Given the description of an element on the screen output the (x, y) to click on. 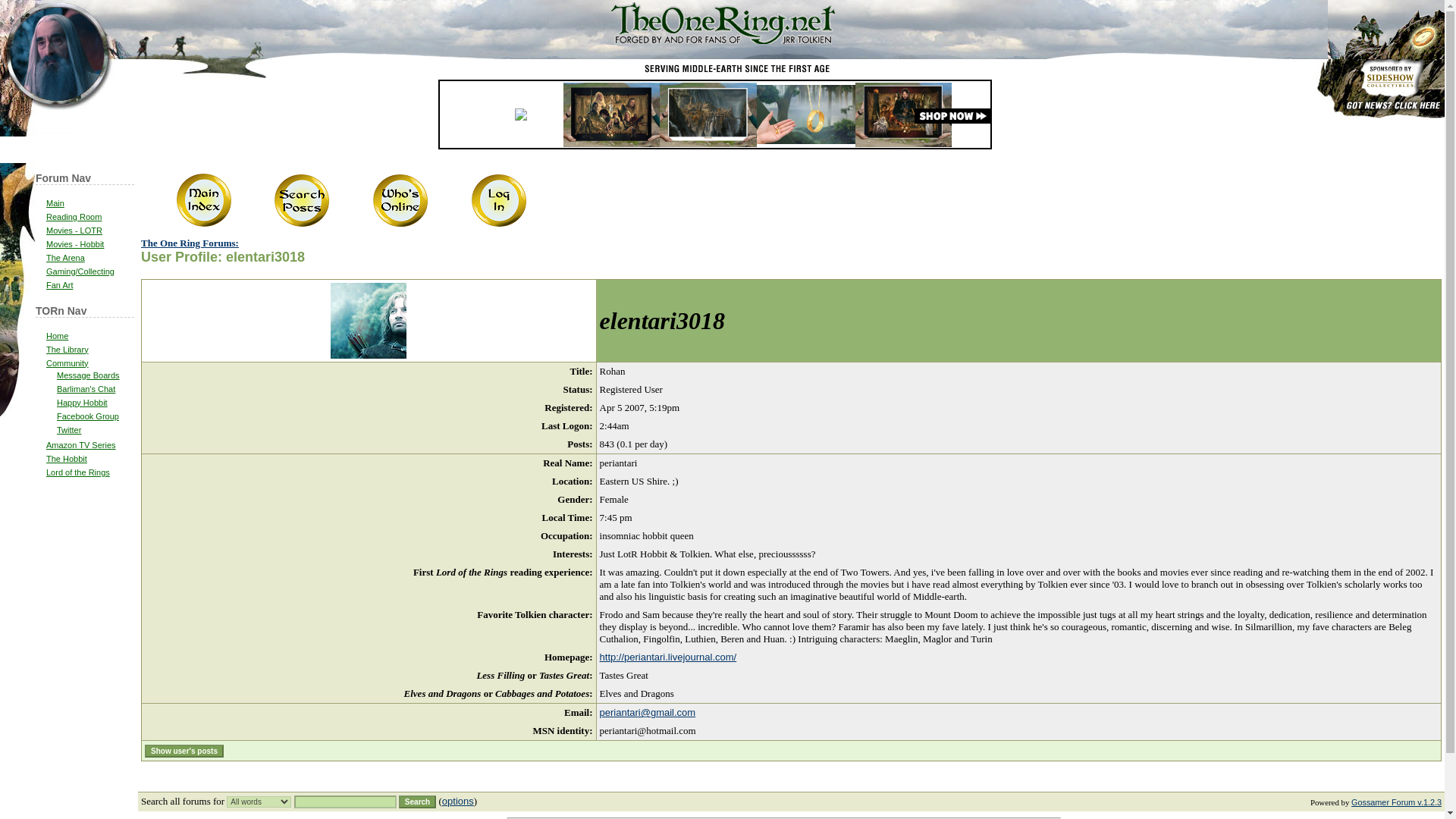
Twitter (68, 429)
Hobbit Headlines (66, 458)
Home (57, 335)
Movies - Hobbit (74, 243)
Hobbit Movie Discussion (74, 243)
Fan Art (59, 284)
Twitter (68, 429)
Gaming and Collecting (80, 271)
The Tolkien Arena (65, 257)
Lord of the Rings MOvie Discussion (73, 230)
Lord of the Rings (78, 471)
Happy Hobbit (81, 402)
Amazon TV Series (81, 444)
The One Ring Forums: (189, 241)
The Library (67, 348)
